Given the description of an element on the screen output the (x, y) to click on. 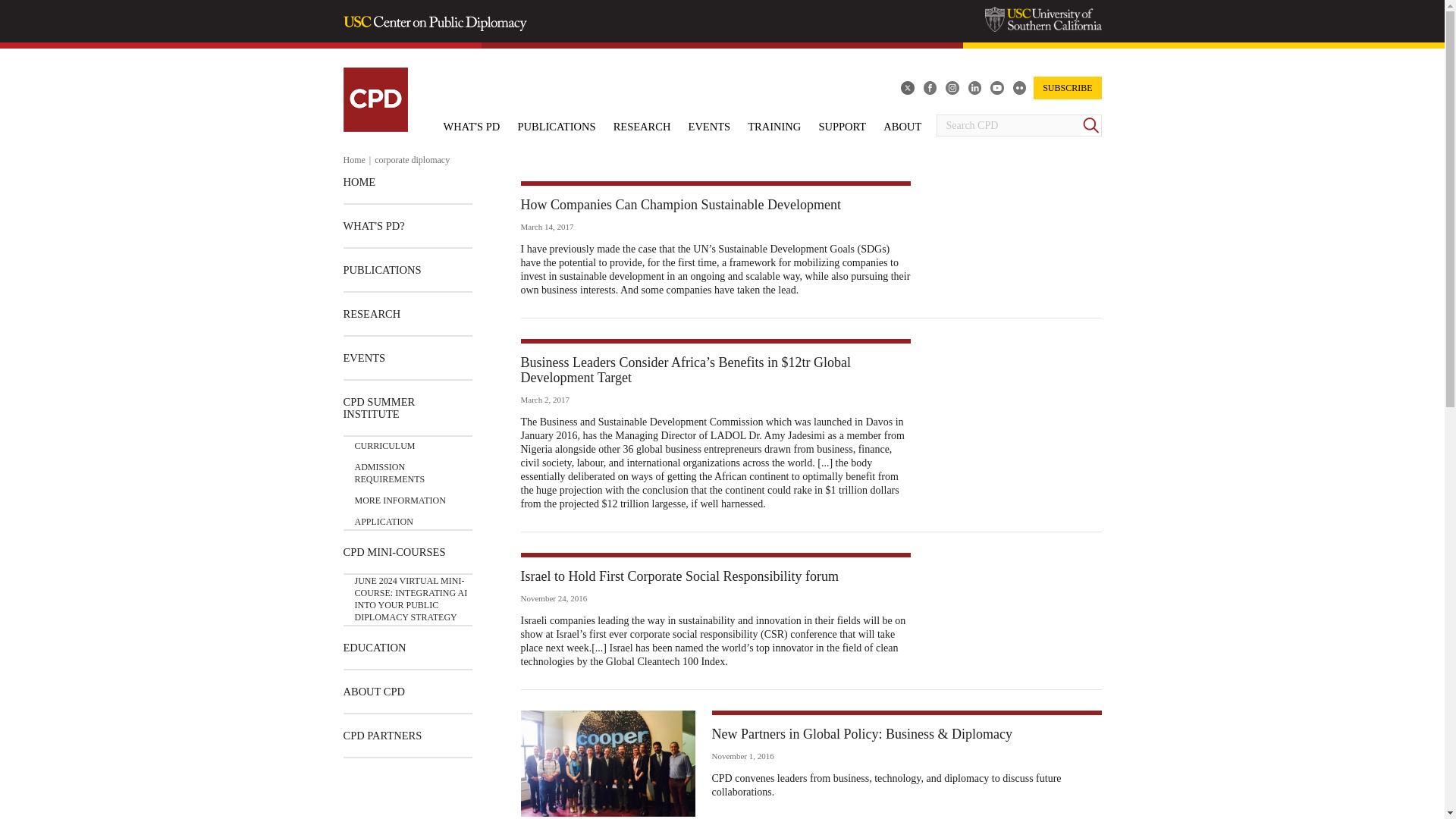
MORE INFORMATION (400, 496)
CPD SUMMER INSTITUTE (406, 407)
APPLICATION (384, 517)
RESEARCH (371, 313)
EVENTS (363, 357)
TRAINING (773, 126)
RESEARCH (642, 126)
WHAT'S PD? (373, 225)
ABOUT (902, 126)
CPD MINI-COURSES (393, 551)
ADMISSION REQUIREMENTS (413, 469)
CURRICULUM (384, 445)
PUBLICATIONS (381, 269)
Enter the terms you wish to search for. (1008, 125)
